Given the description of an element on the screen output the (x, y) to click on. 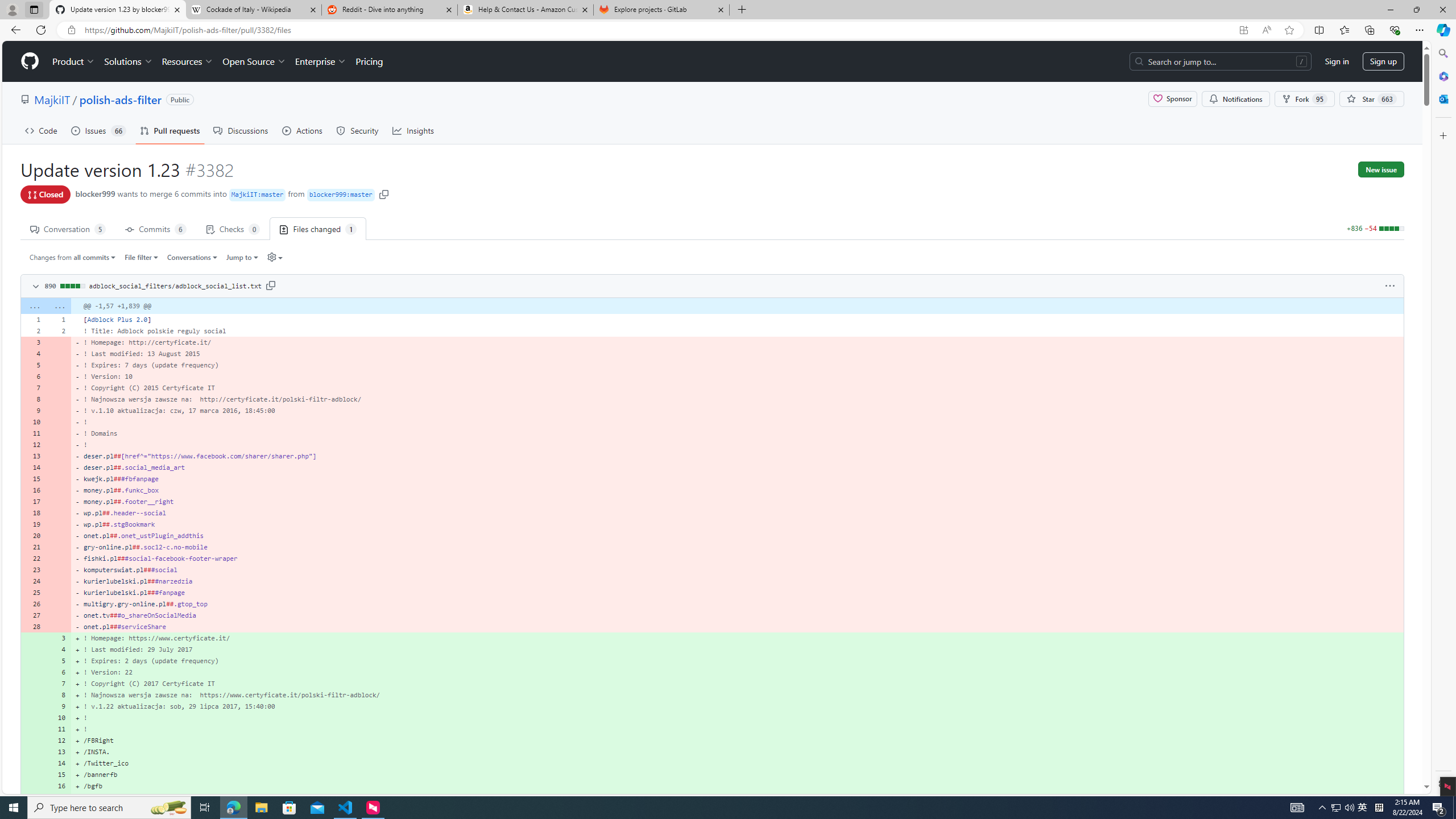
Help & Contact Us - Amazon Customer Service (525, 9)
Pull requests (170, 130)
Conversations (192, 257)
- kurierlubelski.pl###fanpage (737, 592)
19 (33, 523)
Discussions (240, 130)
 Files changed 1 (317, 228)
Pricing (368, 60)
New issue (1380, 169)
Resources (187, 60)
23 (33, 569)
- ! Homepage: http://certyficate.it/ (737, 342)
